Given the description of an element on the screen output the (x, y) to click on. 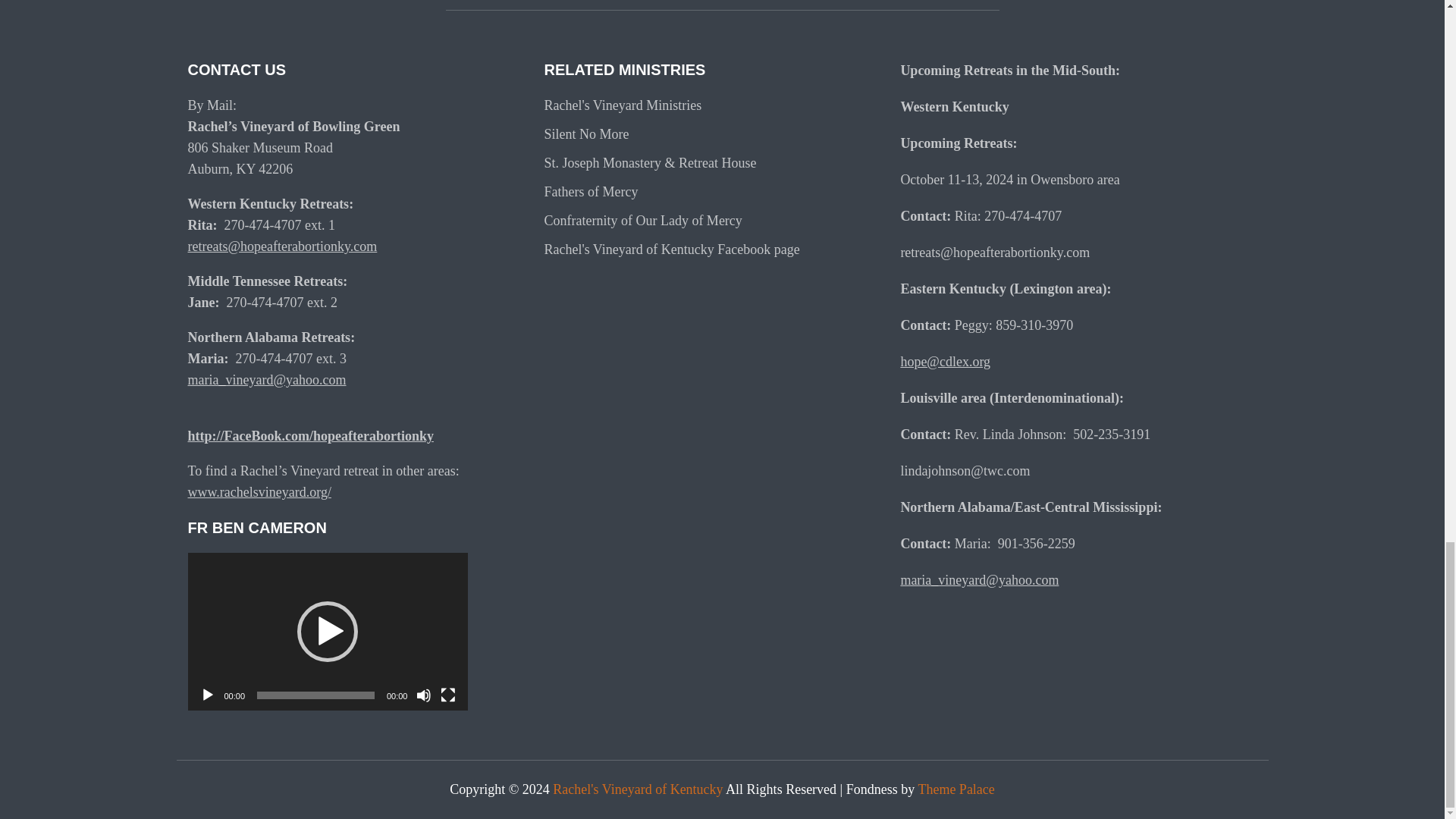
Fathers of Mercy (590, 191)
Fullscreen (448, 694)
Rachels Vineyard Official Site (622, 105)
Play (207, 694)
Our Facebook page (671, 249)
Silent No More Awareness Campaign (585, 133)
Mute (423, 694)
